Given the description of an element on the screen output the (x, y) to click on. 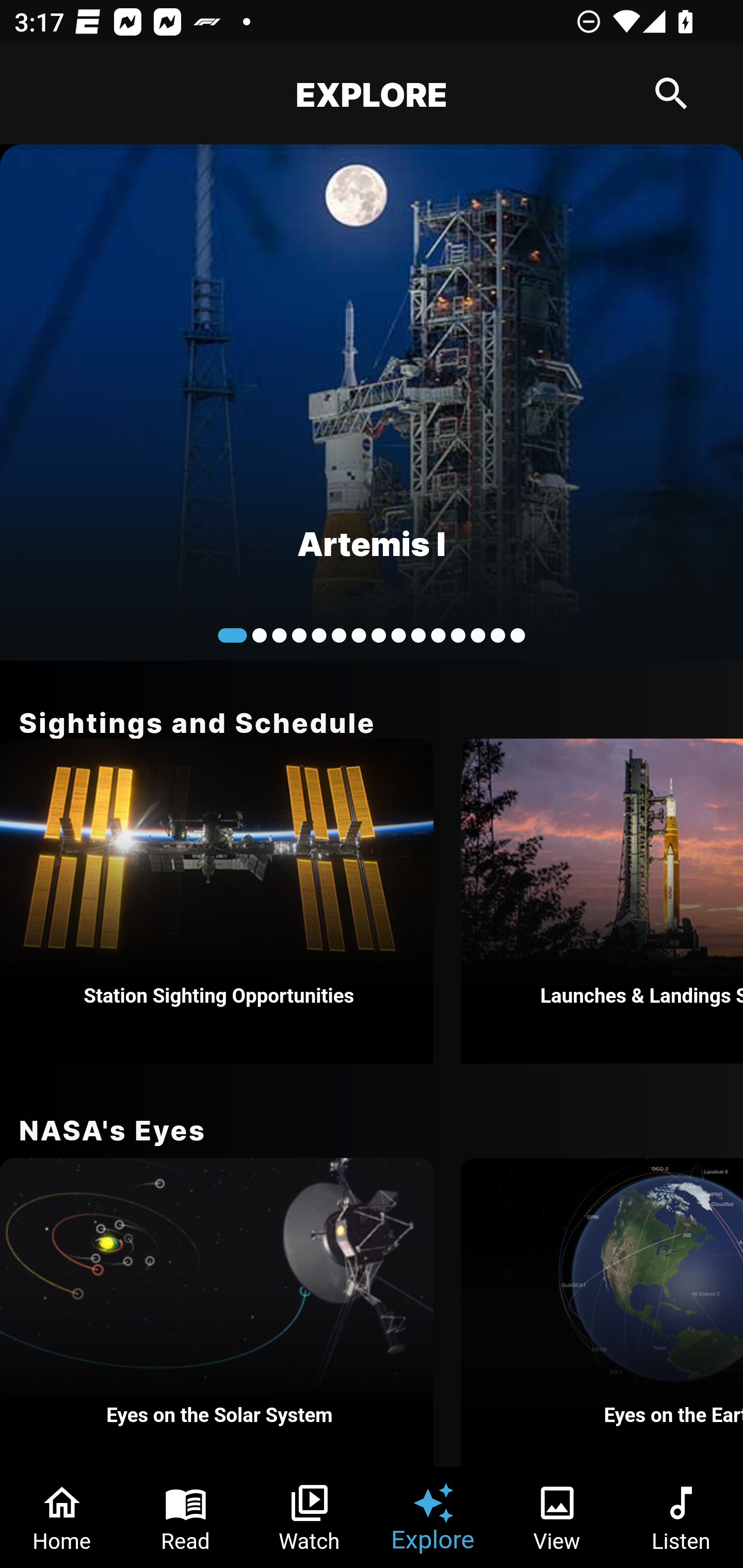
Artemis I
Hello World (371, 402)
Station Sighting Opportunities (216, 900)
Launches & Landings Schedule (601, 900)
Eyes on the Solar System (216, 1312)
Eyes on the Earth (601, 1312)
Home
Tab 1 of 6 (62, 1517)
Read
Tab 2 of 6 (185, 1517)
Watch
Tab 3 of 6 (309, 1517)
Explore
Tab 4 of 6 (433, 1517)
View
Tab 5 of 6 (556, 1517)
Listen
Tab 6 of 6 (680, 1517)
